Given the description of an element on the screen output the (x, y) to click on. 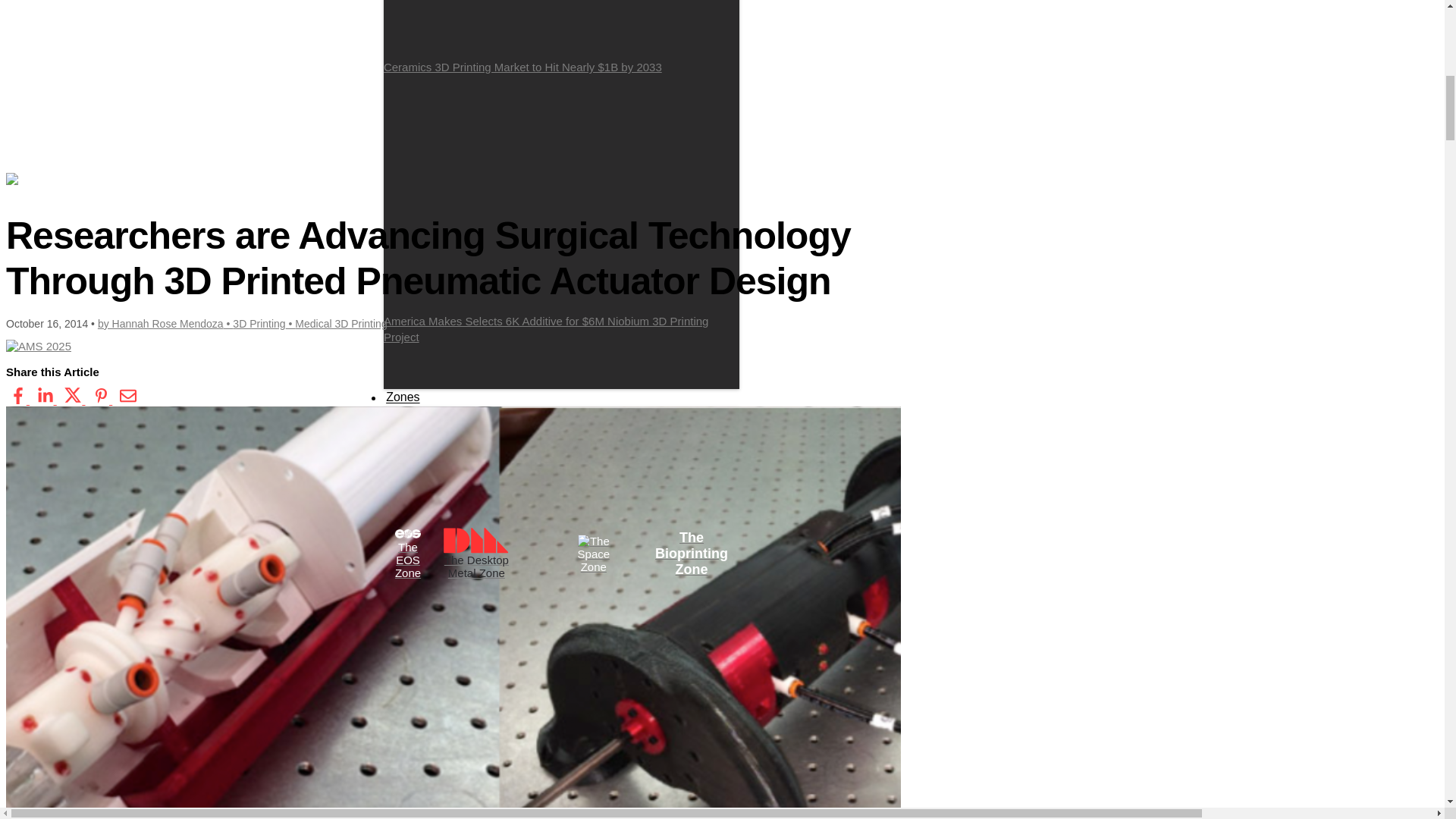
The 3D Systems Zone (649, 469)
EOS Zone (543, 448)
View All Zones (442, 448)
Desktop Metal Zone (542, 458)
The HP Zone (434, 490)
Bioprinting Zone (493, 469)
Zones (403, 397)
3D Printing Stocks Zone (545, 501)
The Desktop Metal Zone (475, 553)
The Space Zone (551, 490)
